Given the description of an element on the screen output the (x, y) to click on. 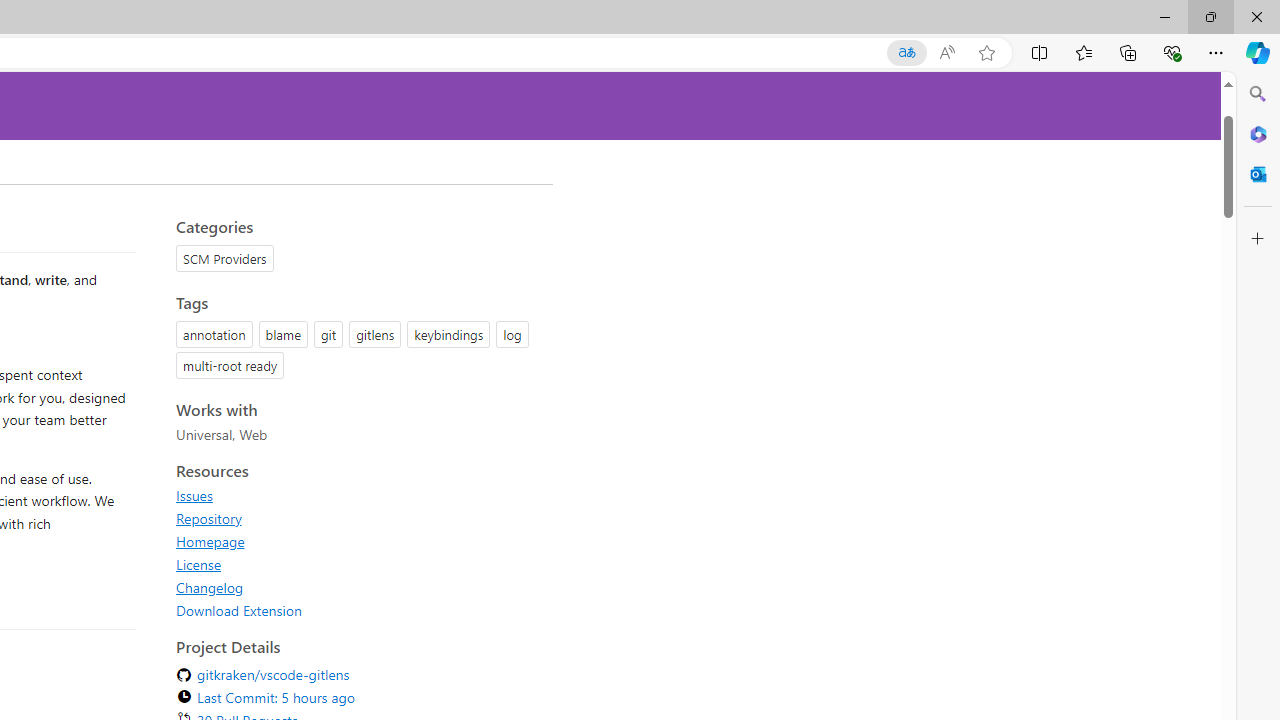
Restore (1210, 16)
Browser essentials (1171, 52)
Issues (194, 495)
Translated (906, 53)
Close (1256, 16)
Changelog (358, 587)
Repository (208, 518)
Collections (1128, 52)
Homepage (210, 541)
